Given the description of an element on the screen output the (x, y) to click on. 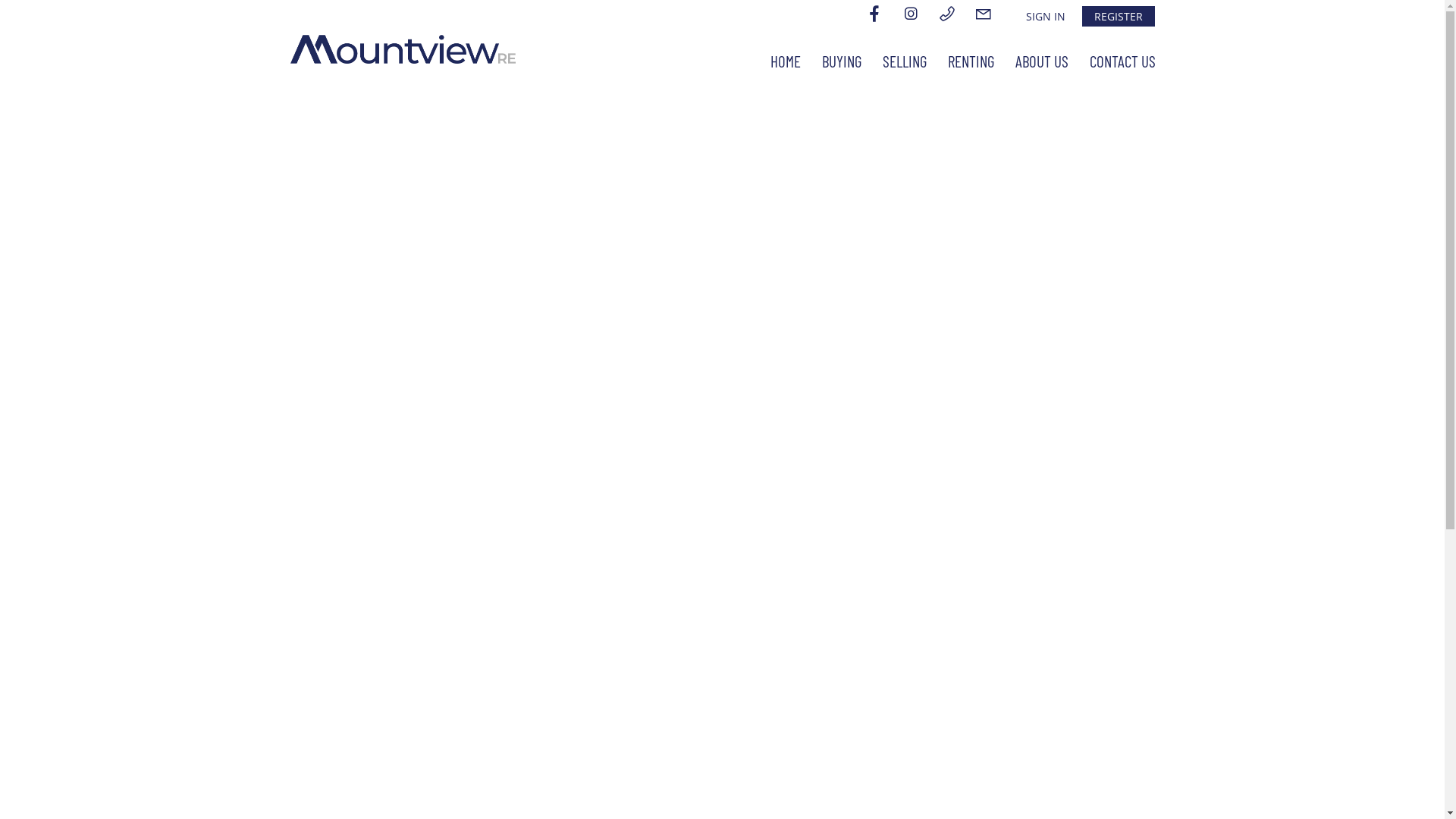
CONTACT US Element type: text (1121, 61)
SIGN IN Element type: text (1044, 16)
REGISTER Element type: text (1117, 16)
ABOUT US Element type: text (1041, 61)
HOME Element type: text (785, 61)
RENTING Element type: text (970, 61)
BUYING Element type: text (841, 61)
SELLING Element type: text (904, 61)
